Given the description of an element on the screen output the (x, y) to click on. 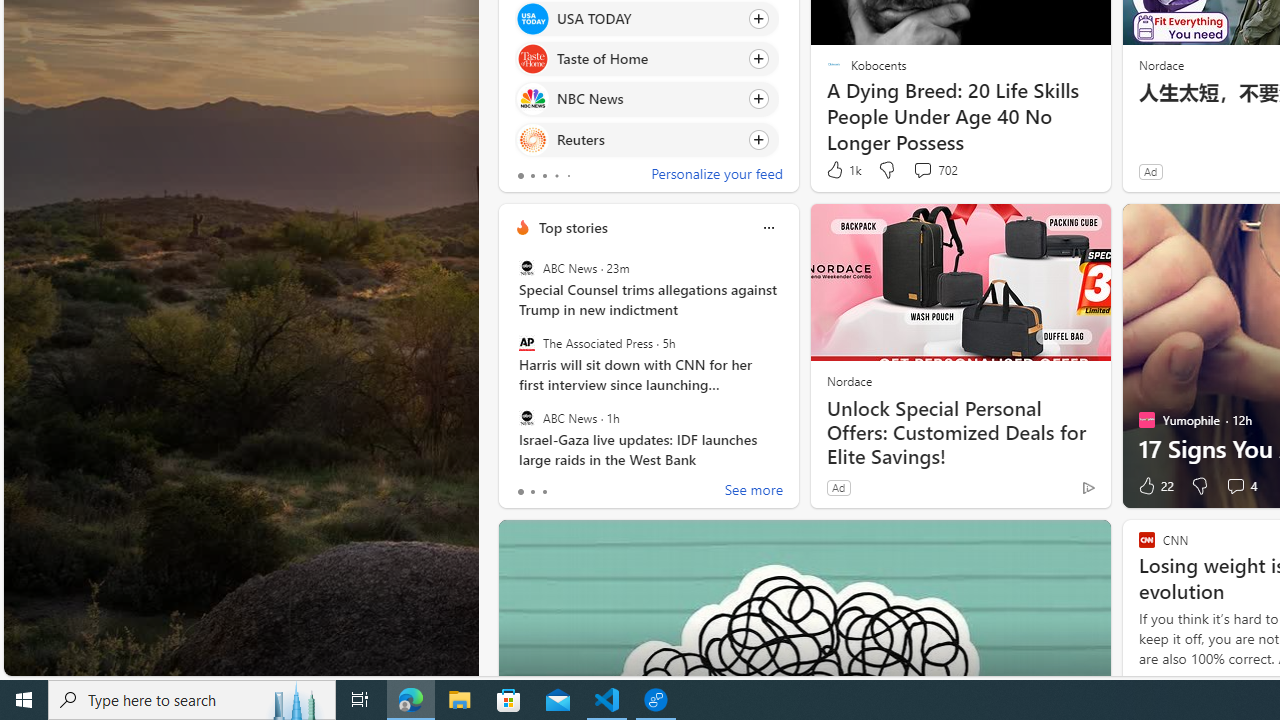
Click to follow source USA TODAY (646, 18)
1k Like (842, 170)
Click to follow source NBC News (646, 99)
View comments 702 Comment (922, 169)
Click to follow source Reuters (646, 138)
Reuters (532, 139)
tab-3 (556, 175)
Personalize your feed (716, 175)
View comments 4 Comment (1240, 485)
